Given the description of an element on the screen output the (x, y) to click on. 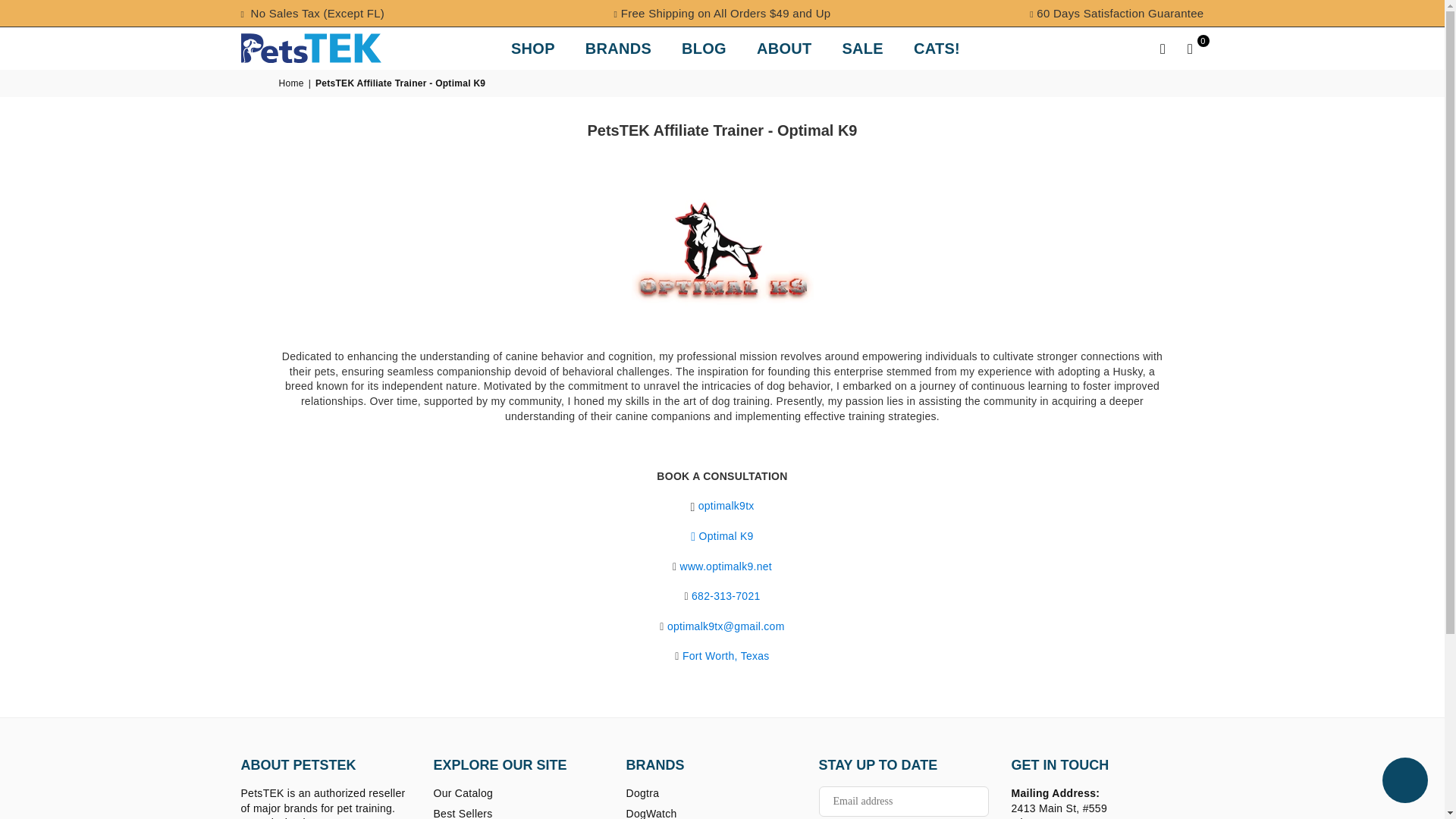
Optimal K9 Facebook (726, 535)
BRANDS (617, 47)
Optimal K9 Phone Number (725, 595)
Search (1163, 47)
Fort Worth, TX Map (726, 656)
Cart (1190, 47)
PETSTEK (322, 48)
Optimal K9 Instagram (726, 505)
Shopify online store chat (1404, 781)
SHOP (532, 47)
Back to the home page (292, 83)
Optimal K9 Website (725, 566)
Optimal K9 Email (725, 626)
